Given the description of an element on the screen output the (x, y) to click on. 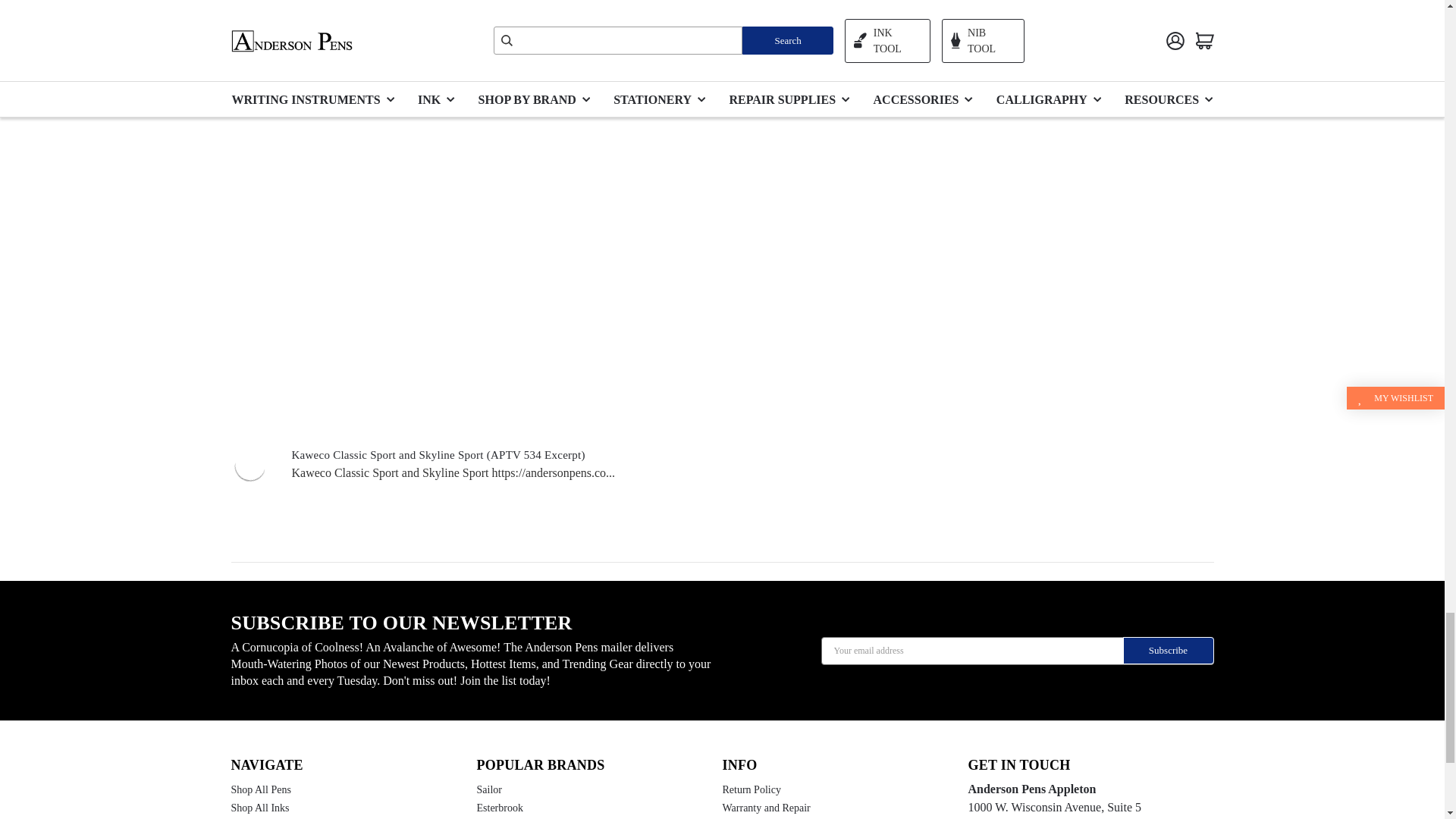
Subscribe (1167, 650)
